Given the description of an element on the screen output the (x, y) to click on. 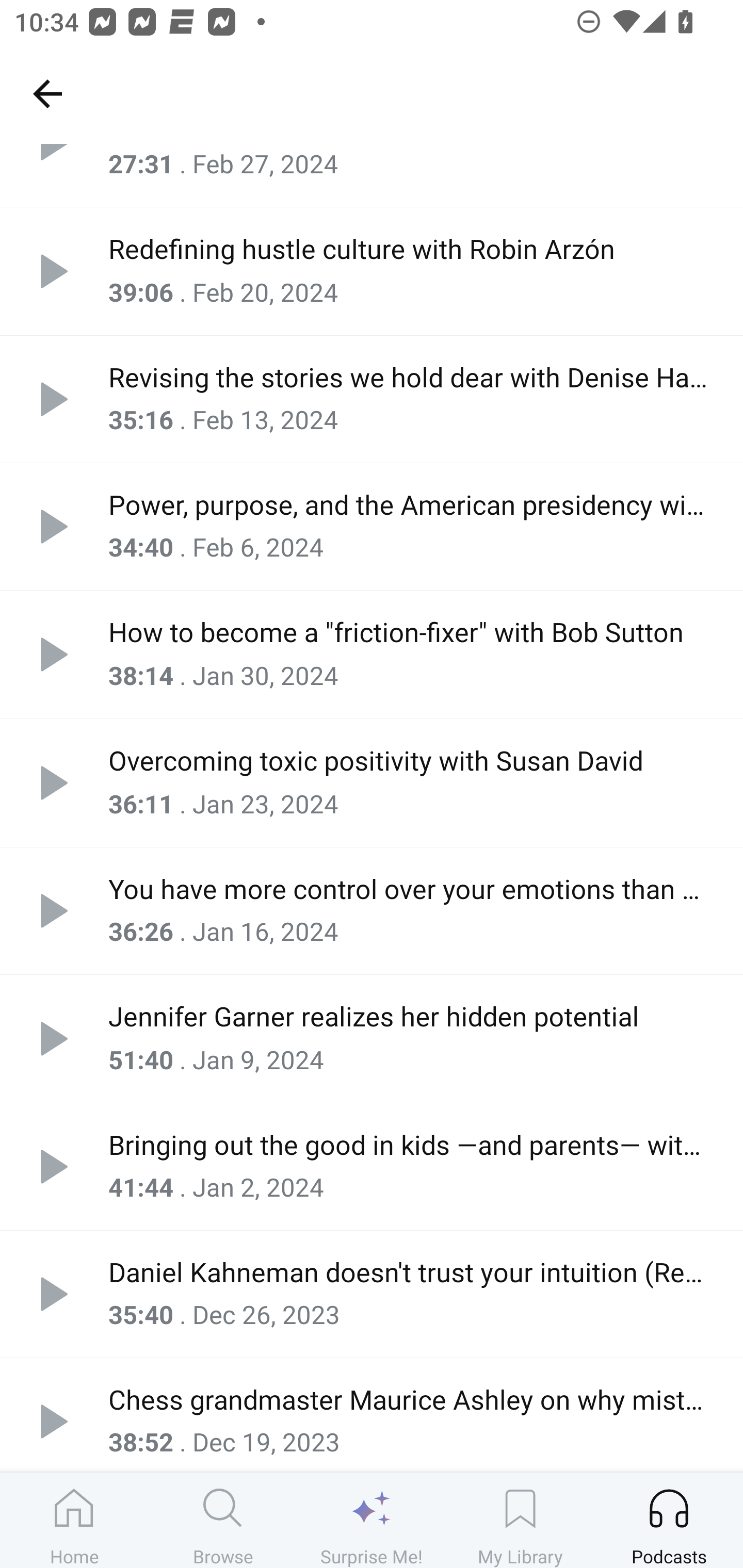
TED Podcasts, back (47, 92)
Home (74, 1520)
Browse (222, 1520)
Surprise Me! (371, 1520)
My Library (519, 1520)
Podcasts (668, 1520)
